Given the description of an element on the screen output the (x, y) to click on. 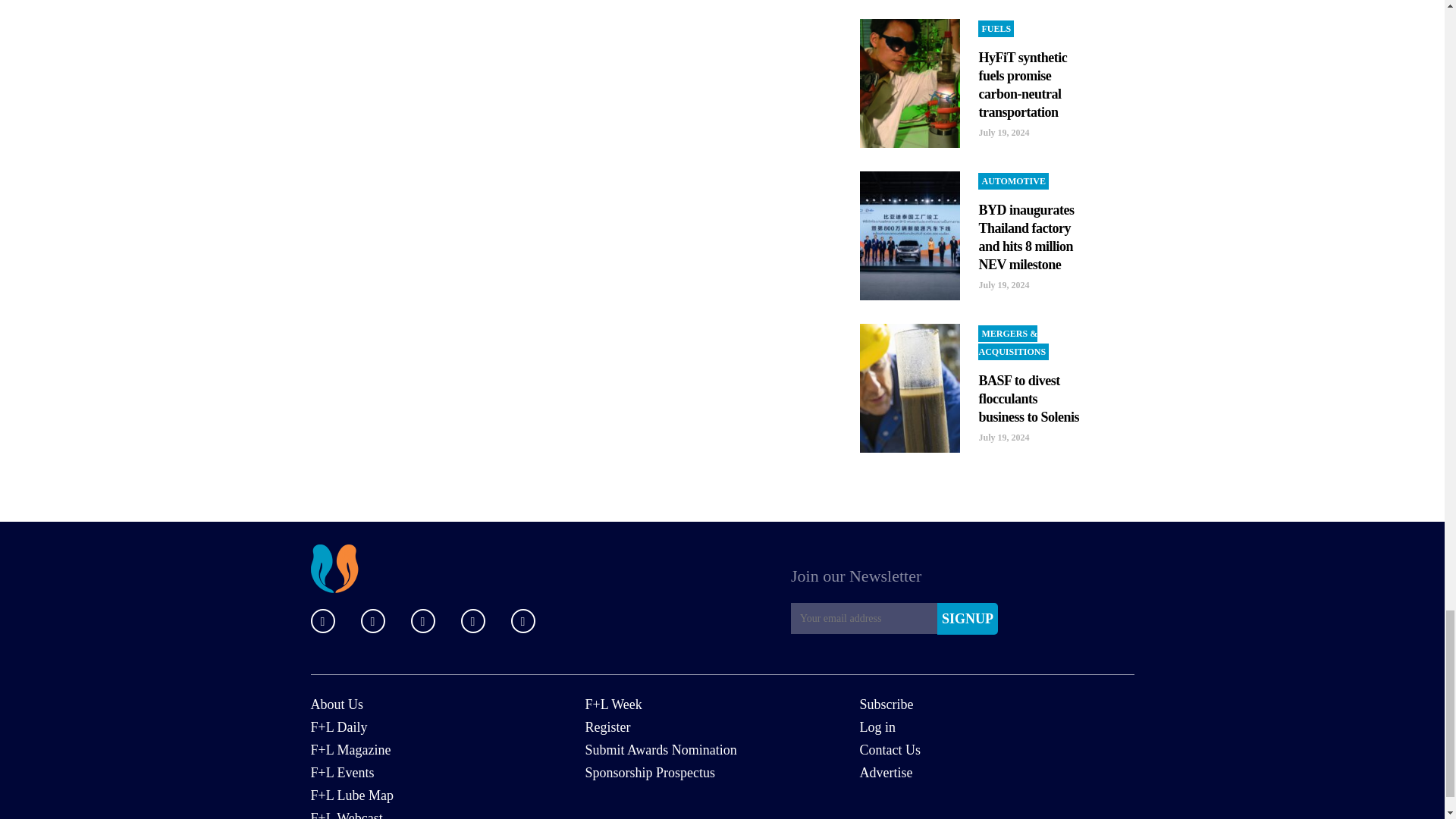
SIGNUP (967, 618)
